Given the description of an element on the screen output the (x, y) to click on. 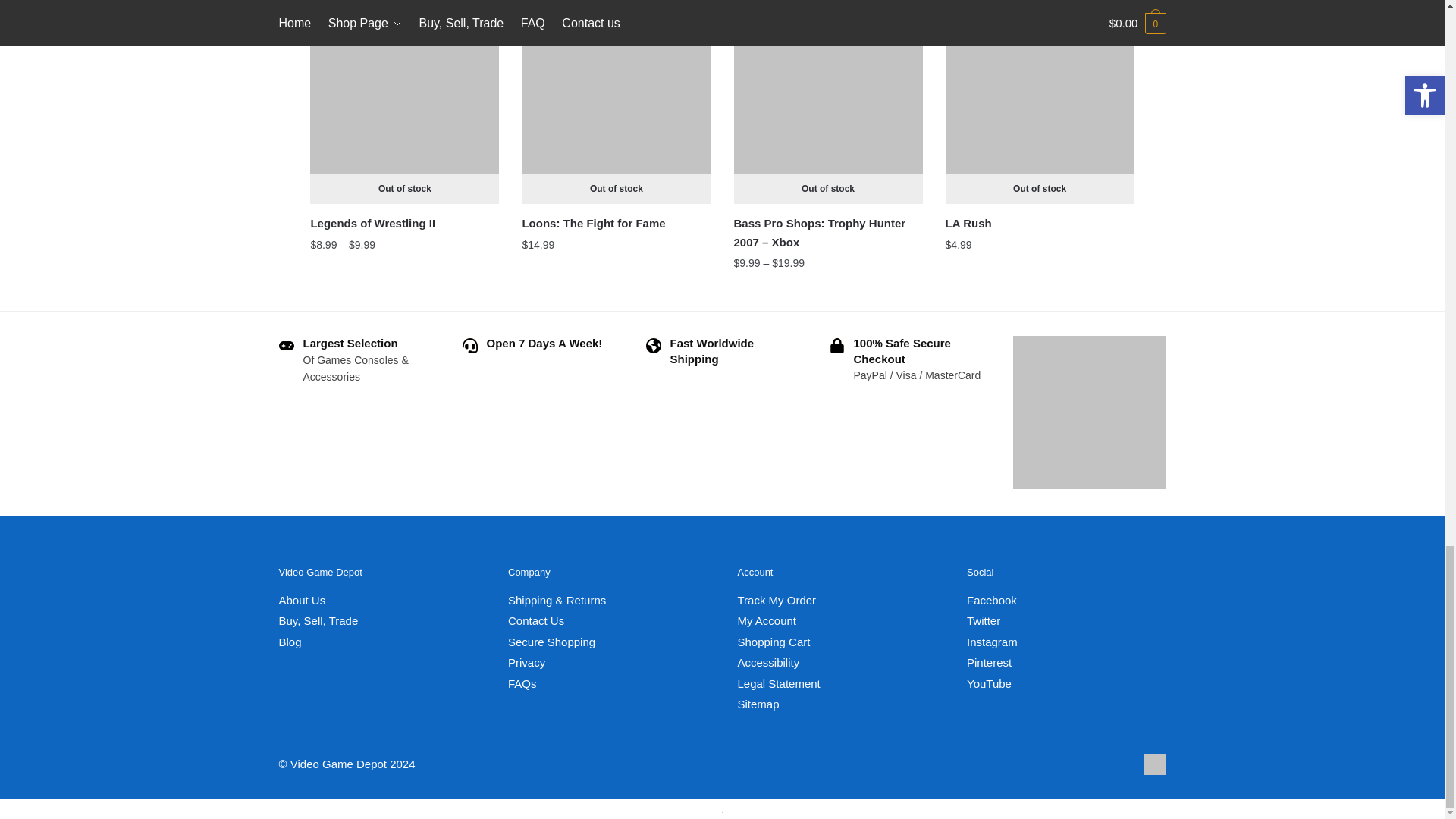
Legends of Wrestling II (404, 109)
